Given the description of an element on the screen output the (x, y) to click on. 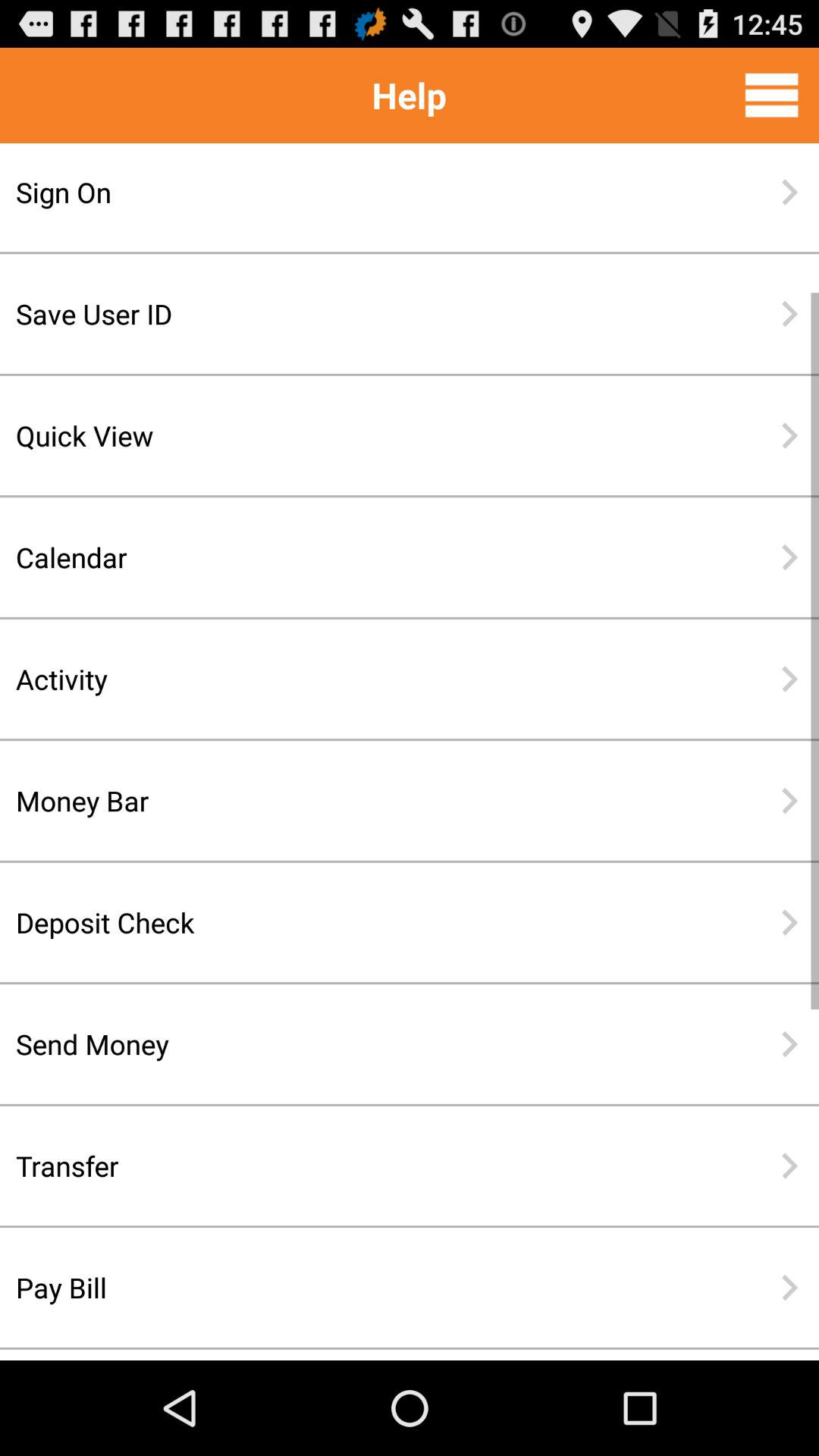
turn off icon to the right of send money icon (789, 1044)
